Given the description of an element on the screen output the (x, y) to click on. 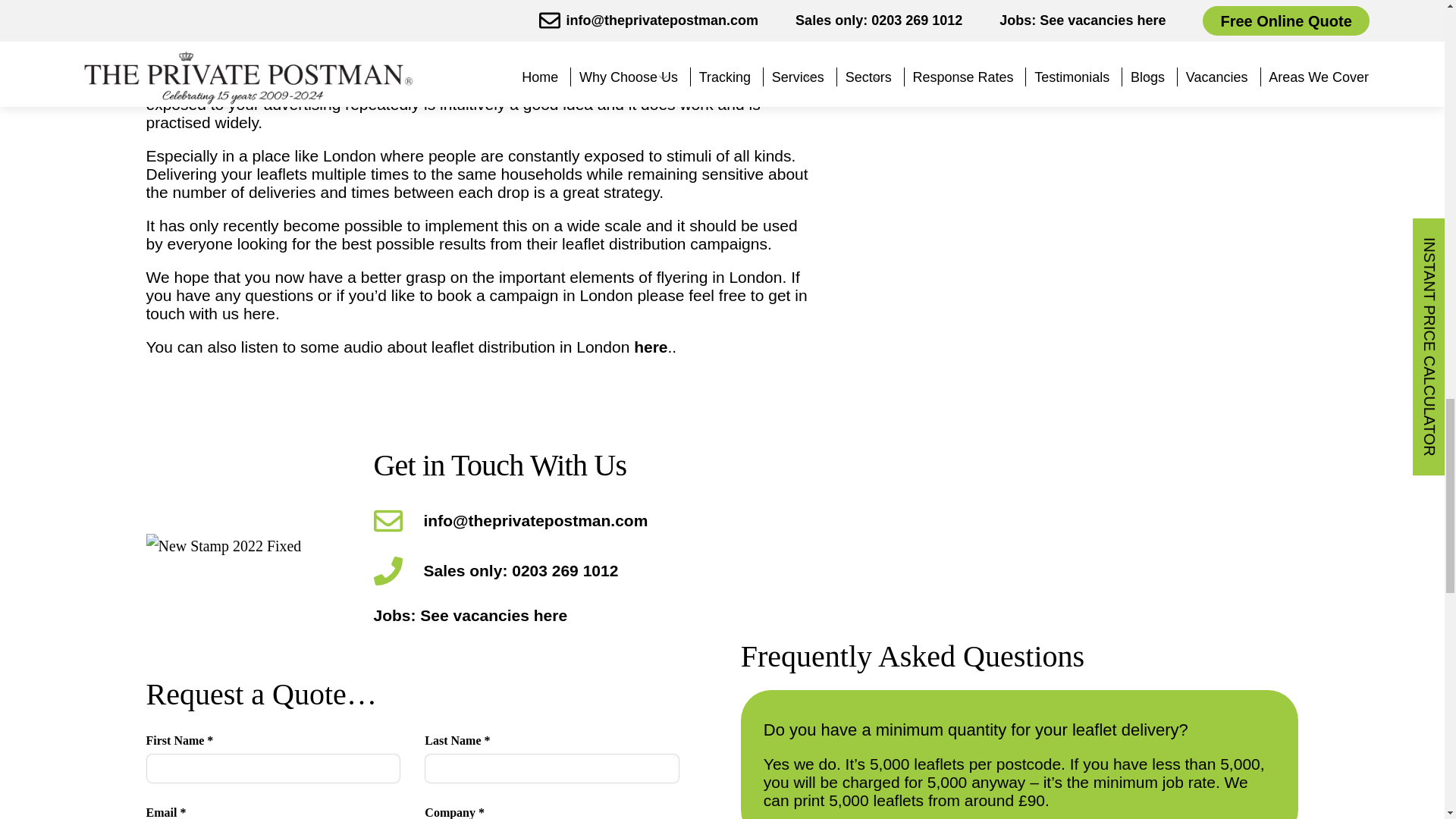
New Stamp 2022 Fixed (247, 546)
